Given the description of an element on the screen output the (x, y) to click on. 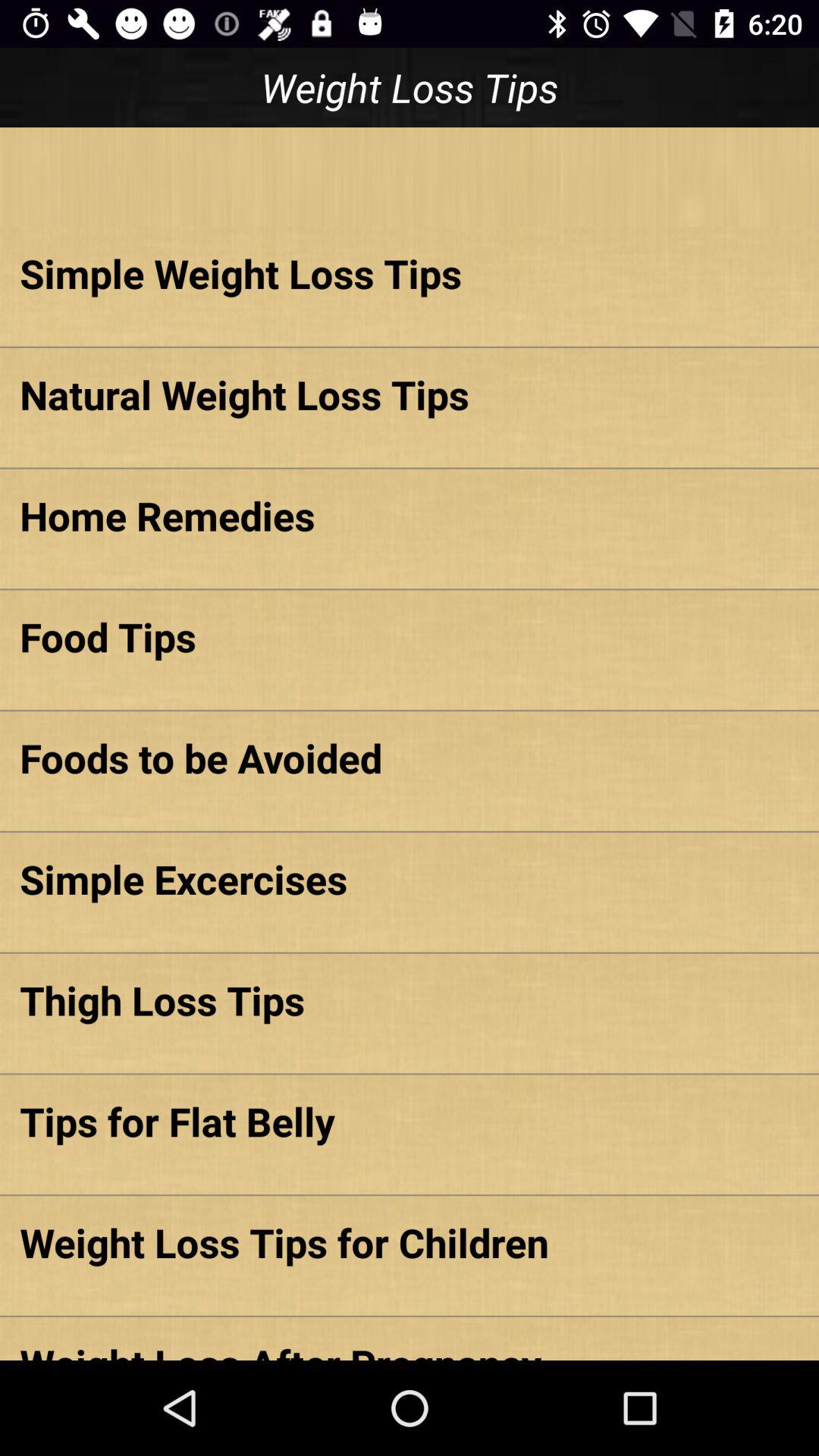
press icon above food tips item (409, 515)
